Given the description of an element on the screen output the (x, y) to click on. 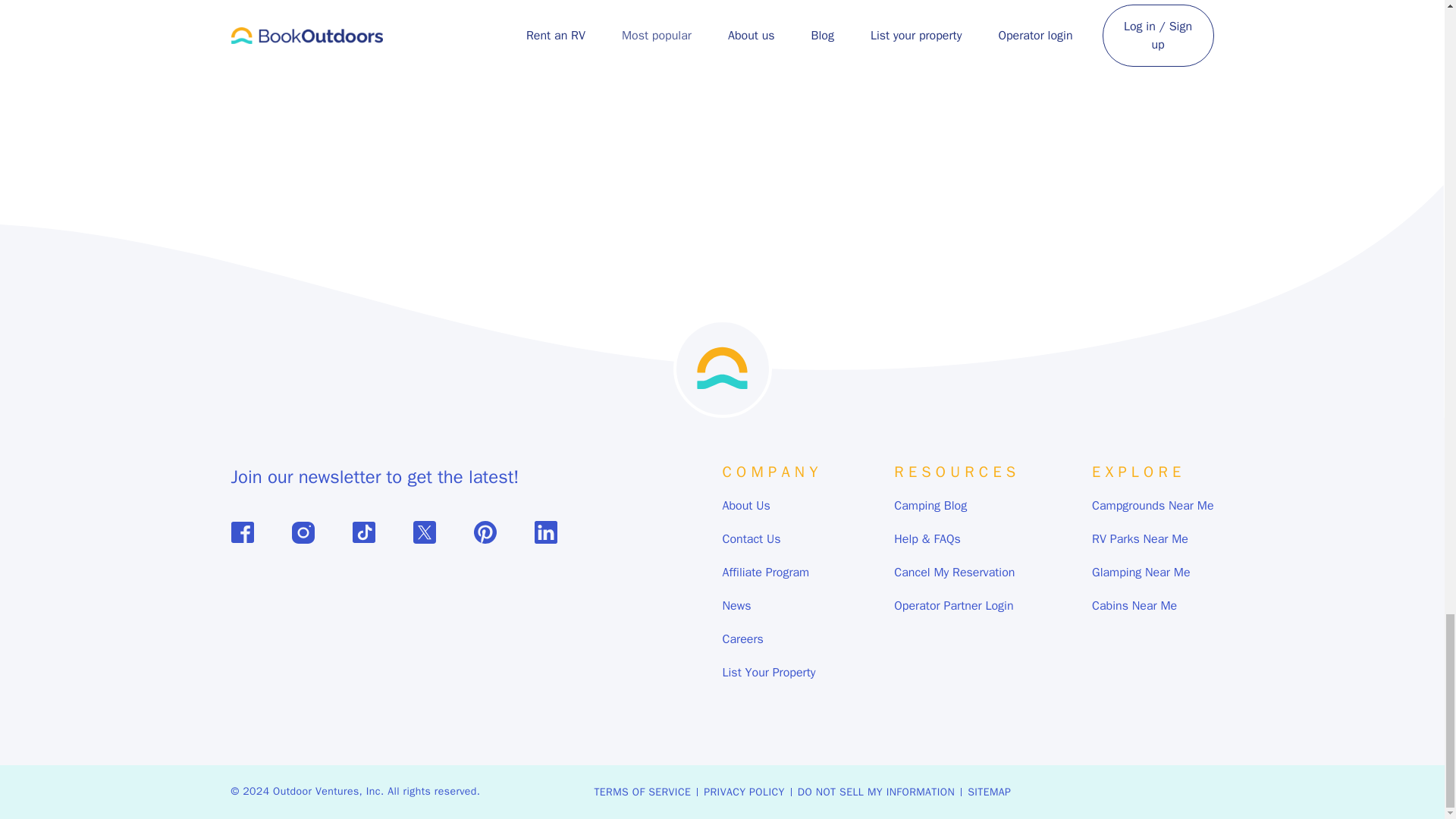
RV parks (766, 11)
cabins (814, 11)
campgrounds (699, 11)
